Given the description of an element on the screen output the (x, y) to click on. 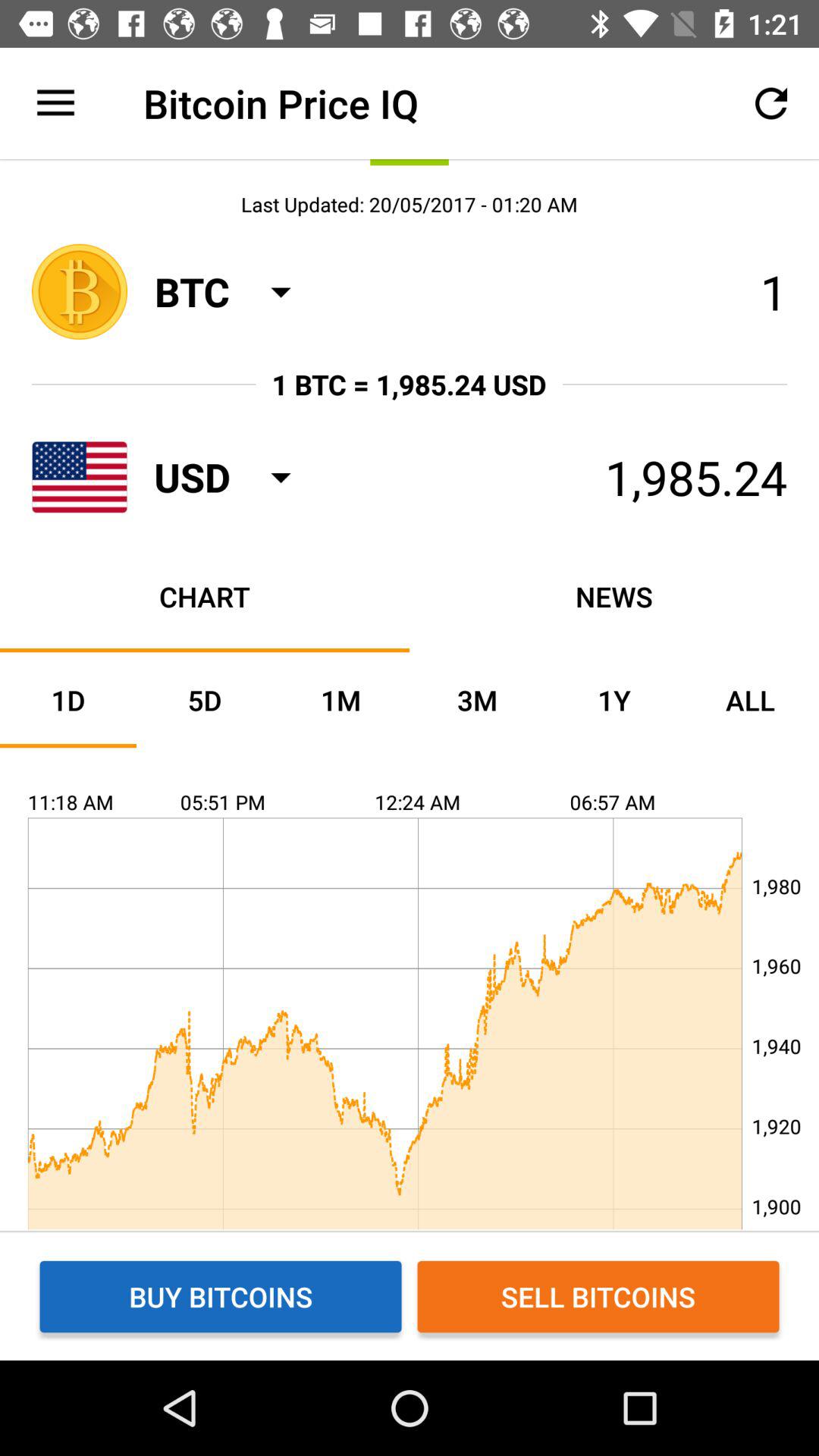
launch item to the right of the bitcoin price iq (771, 103)
